Given the description of an element on the screen output the (x, y) to click on. 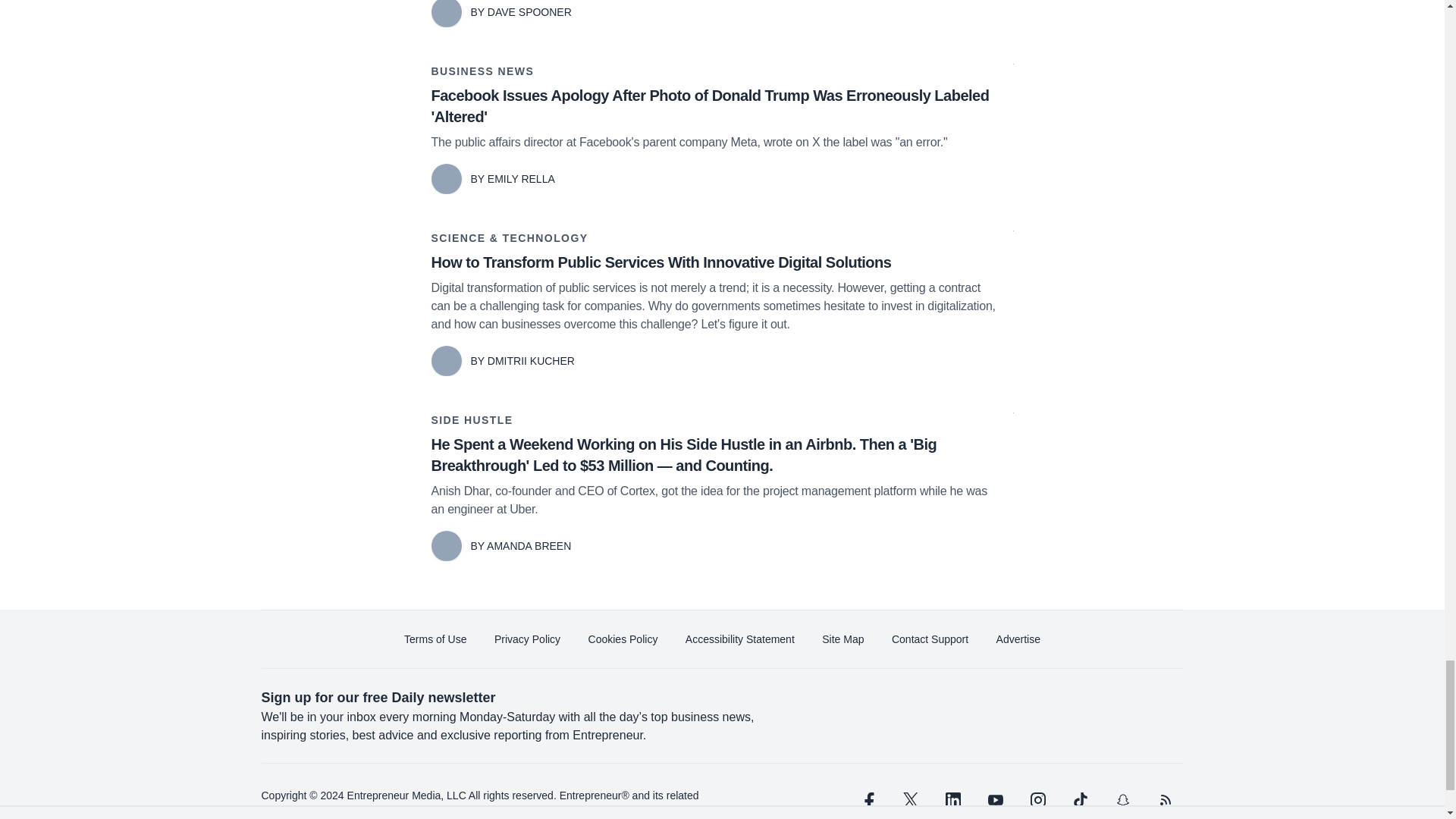
tiktok (1079, 800)
instagram (1037, 800)
linkedin (952, 800)
snapchat (1121, 800)
facebook (866, 800)
twitter (909, 800)
youtube (994, 800)
